Given the description of an element on the screen output the (x, y) to click on. 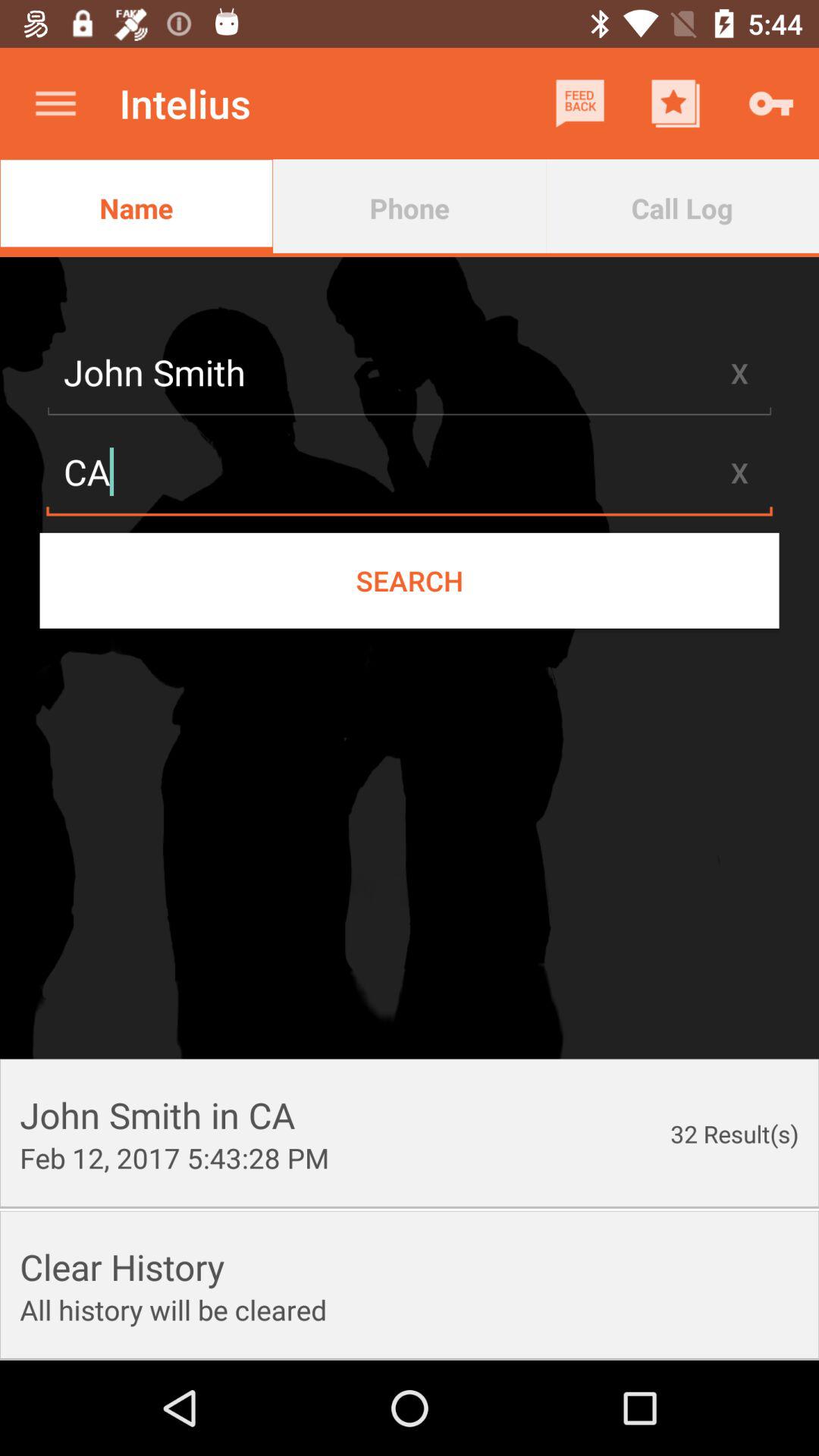
scroll until feb 12 2017 item (174, 1157)
